Given the description of an element on the screen output the (x, y) to click on. 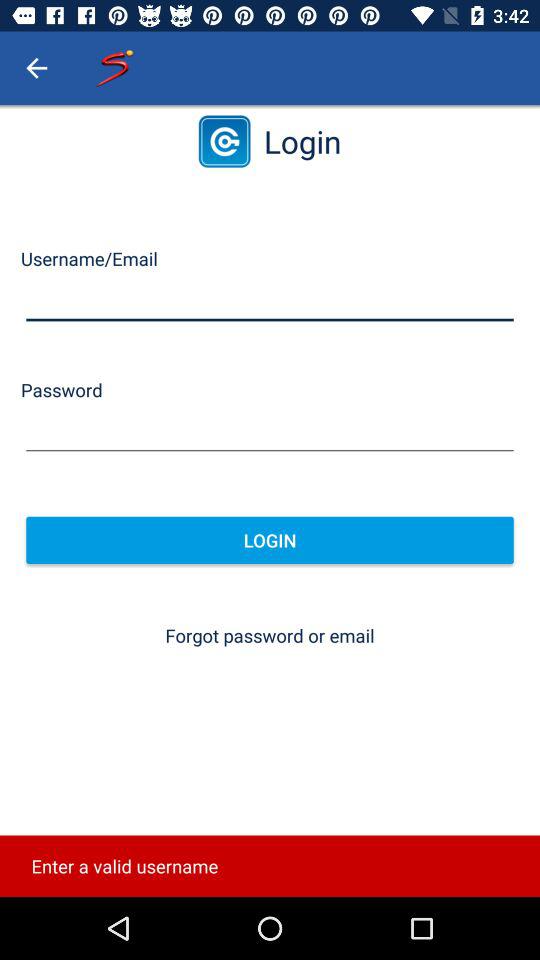
press item above the enter a valid icon (269, 635)
